Given the description of an element on the screen output the (x, y) to click on. 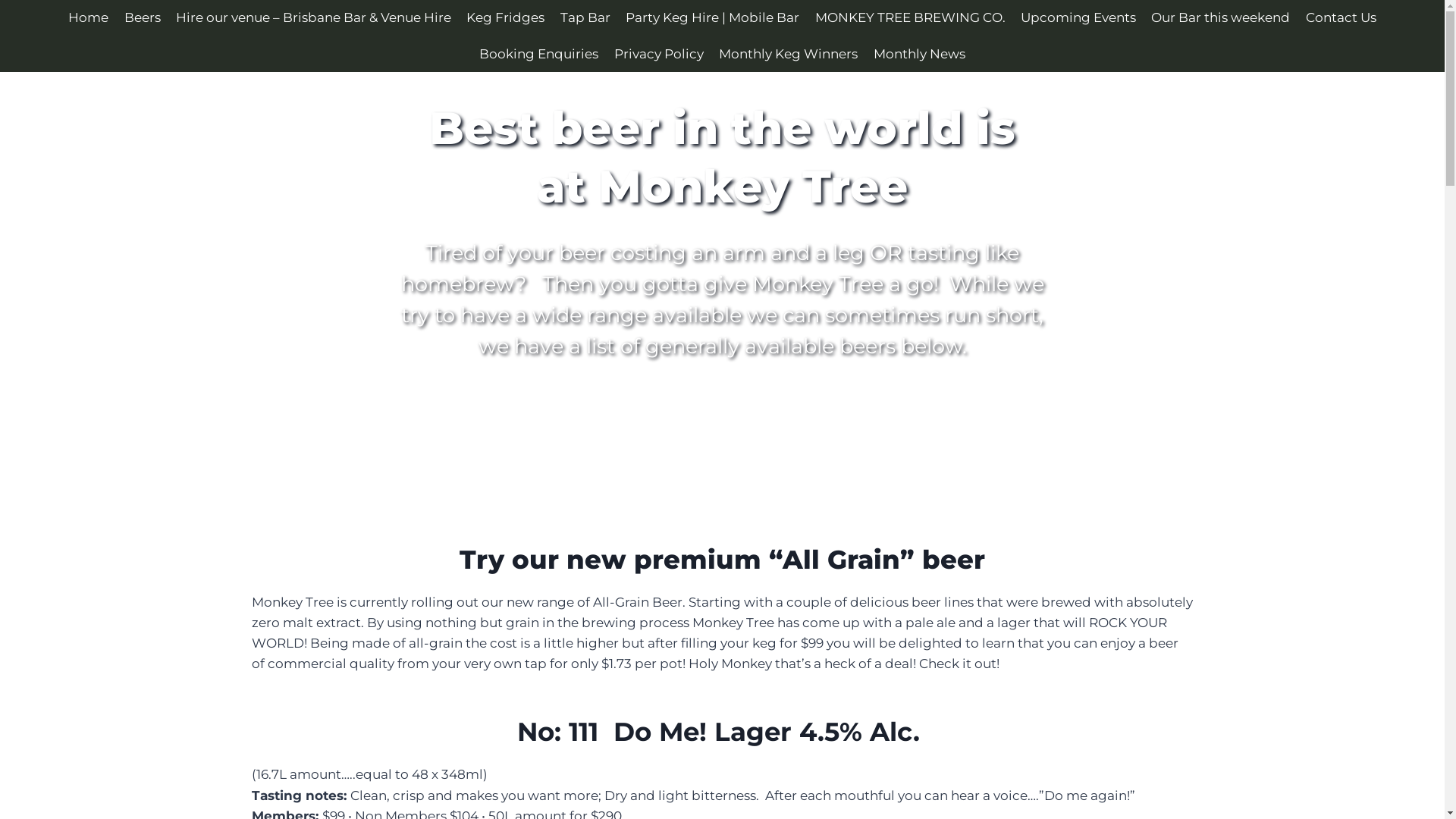
Our Bar this weekend Element type: text (1220, 18)
Party Keg Hire | Mobile Bar Element type: text (712, 18)
Monthly Keg Winners Element type: text (788, 54)
Monthly News Element type: text (918, 54)
Beers Element type: text (142, 18)
Privacy Policy Element type: text (658, 54)
Keg Fridges Element type: text (505, 18)
Tap Bar Element type: text (585, 18)
Upcoming Events Element type: text (1078, 18)
Home Element type: text (88, 18)
Booking Enquiries Element type: text (538, 54)
Contact Us Element type: text (1340, 18)
MONKEY TREE BREWING CO. Element type: text (909, 18)
